Given the description of an element on the screen output the (x, y) to click on. 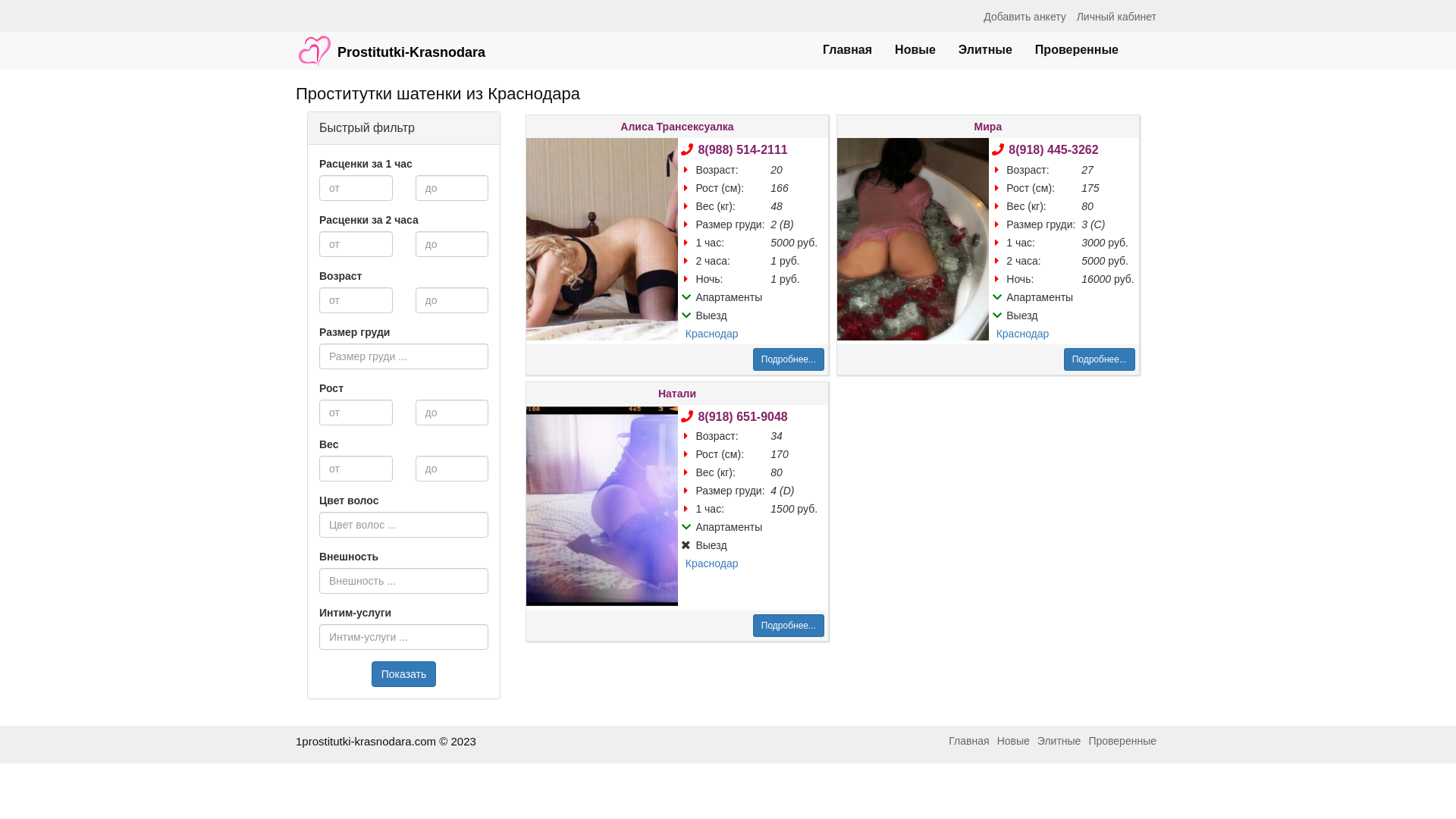
Prostitutki-Krasnodara Element type: text (390, 43)
